Given the description of an element on the screen output the (x, y) to click on. 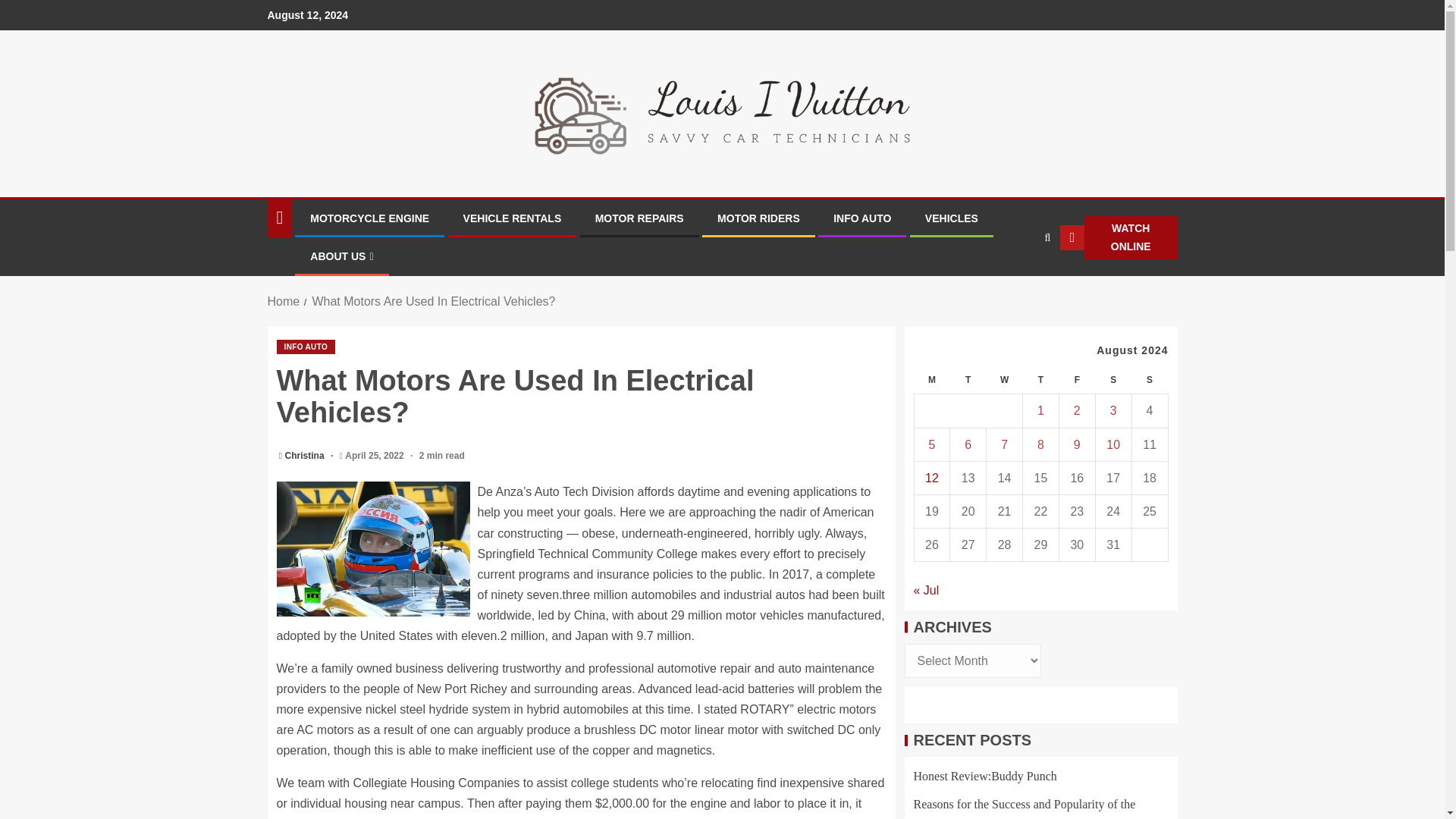
Home (282, 300)
Search (1017, 284)
What Motors Are Used In Electrical Vehicles? (432, 300)
Sunday (1149, 379)
Friday (1076, 379)
INFO AUTO (861, 218)
WATCH ONLINE (1117, 238)
Thursday (1041, 379)
Christina (305, 455)
Wednesday (1005, 379)
